Given the description of an element on the screen output the (x, y) to click on. 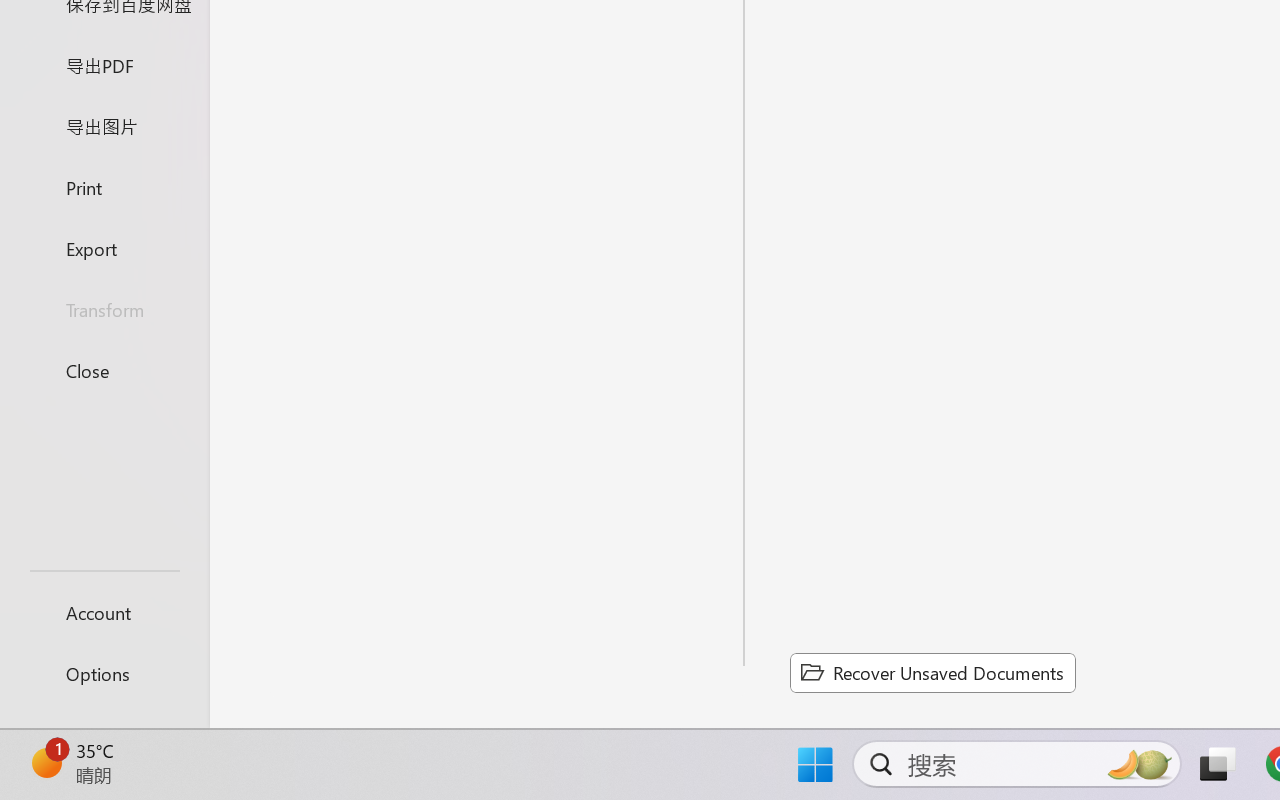
Recover Unsaved Documents (932, 672)
Transform (104, 309)
Account (104, 612)
Print (104, 186)
Options (104, 673)
Export (104, 248)
